Given the description of an element on the screen output the (x, y) to click on. 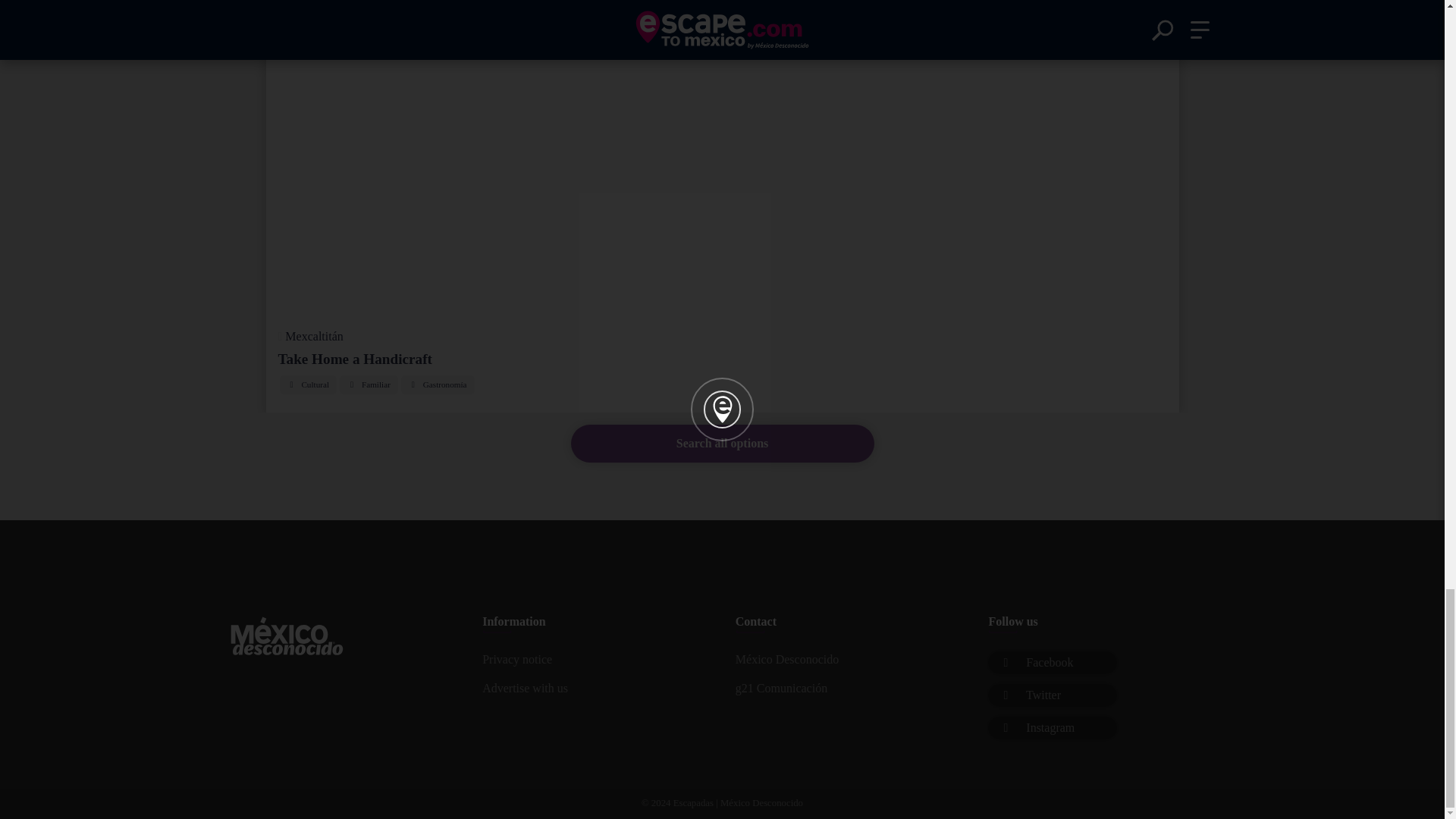
Instagram (1052, 727)
Privacy notice (595, 659)
Twitter (1052, 694)
Search all options (721, 443)
Facebook (1052, 662)
Advertise with us (595, 687)
